Given the description of an element on the screen output the (x, y) to click on. 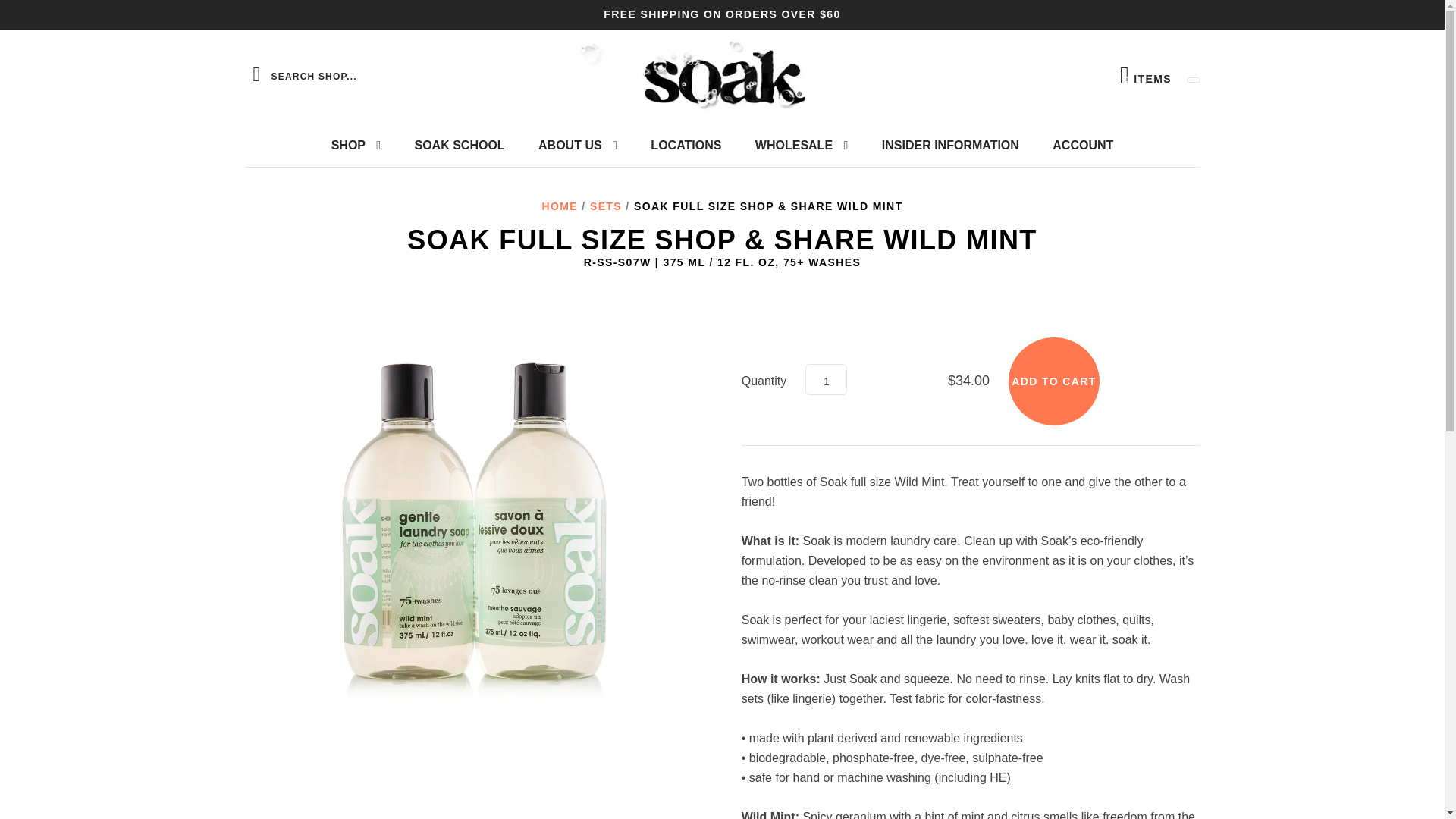
LOCATIONS (685, 145)
SHOP (355, 145)
Add to cart (1054, 381)
ABOUT US (576, 145)
WHOLESALE (1145, 75)
1 (801, 145)
SOAK SCHOOL (826, 378)
